Given the description of an element on the screen output the (x, y) to click on. 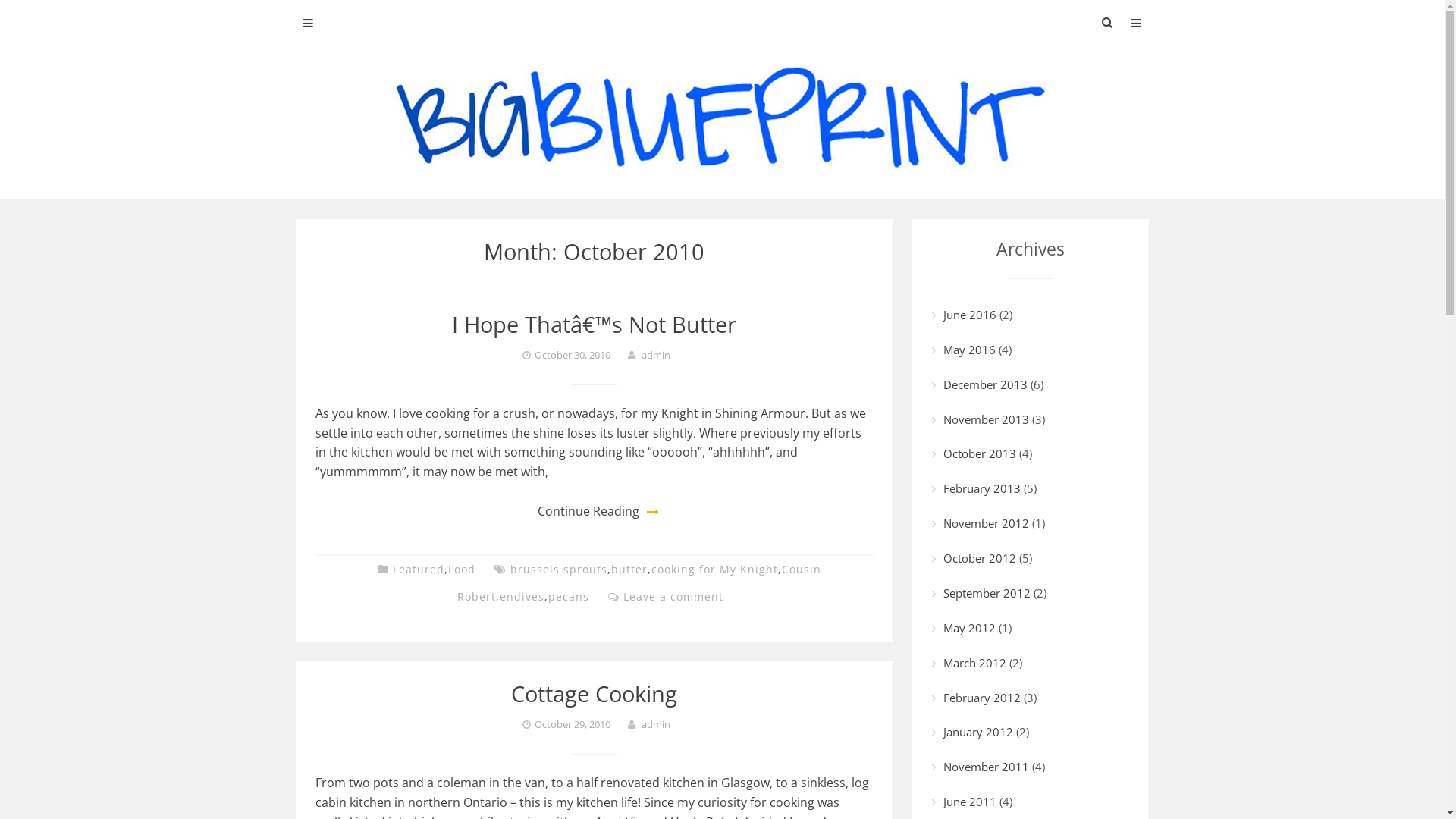
March 2012 Element type: text (974, 662)
December 2013 Element type: text (985, 384)
September 2012 Element type: text (986, 592)
November 2011 Element type: text (986, 766)
Featured Element type: text (418, 568)
February 2013 Element type: text (981, 487)
June 2011 Element type: text (969, 801)
June 2016 Element type: text (969, 314)
October 2013 Element type: text (979, 453)
butter Element type: text (629, 568)
May 2012 Element type: text (969, 627)
Cottage Cooking Element type: text (594, 693)
May 2016 Element type: text (969, 349)
pecans Element type: text (568, 596)
Cousin Robert Element type: text (639, 582)
October 30, 2010 Element type: text (574, 354)
Leave a comment Element type: text (673, 596)
admin Element type: text (655, 354)
January 2012 Element type: text (978, 731)
brussels sprouts Element type: text (558, 568)
Continue Reading Element type: text (588, 511)
November 2013 Element type: text (986, 418)
admin Element type: text (655, 724)
cooking for My Knight Element type: text (714, 568)
Food Element type: text (461, 568)
Skip to content Element type: text (0, 0)
October 2012 Element type: text (979, 557)
October 29, 2010 Element type: text (574, 724)
November 2012 Element type: text (986, 522)
February 2012 Element type: text (981, 697)
endives Element type: text (521, 596)
